Given the description of an element on the screen output the (x, y) to click on. 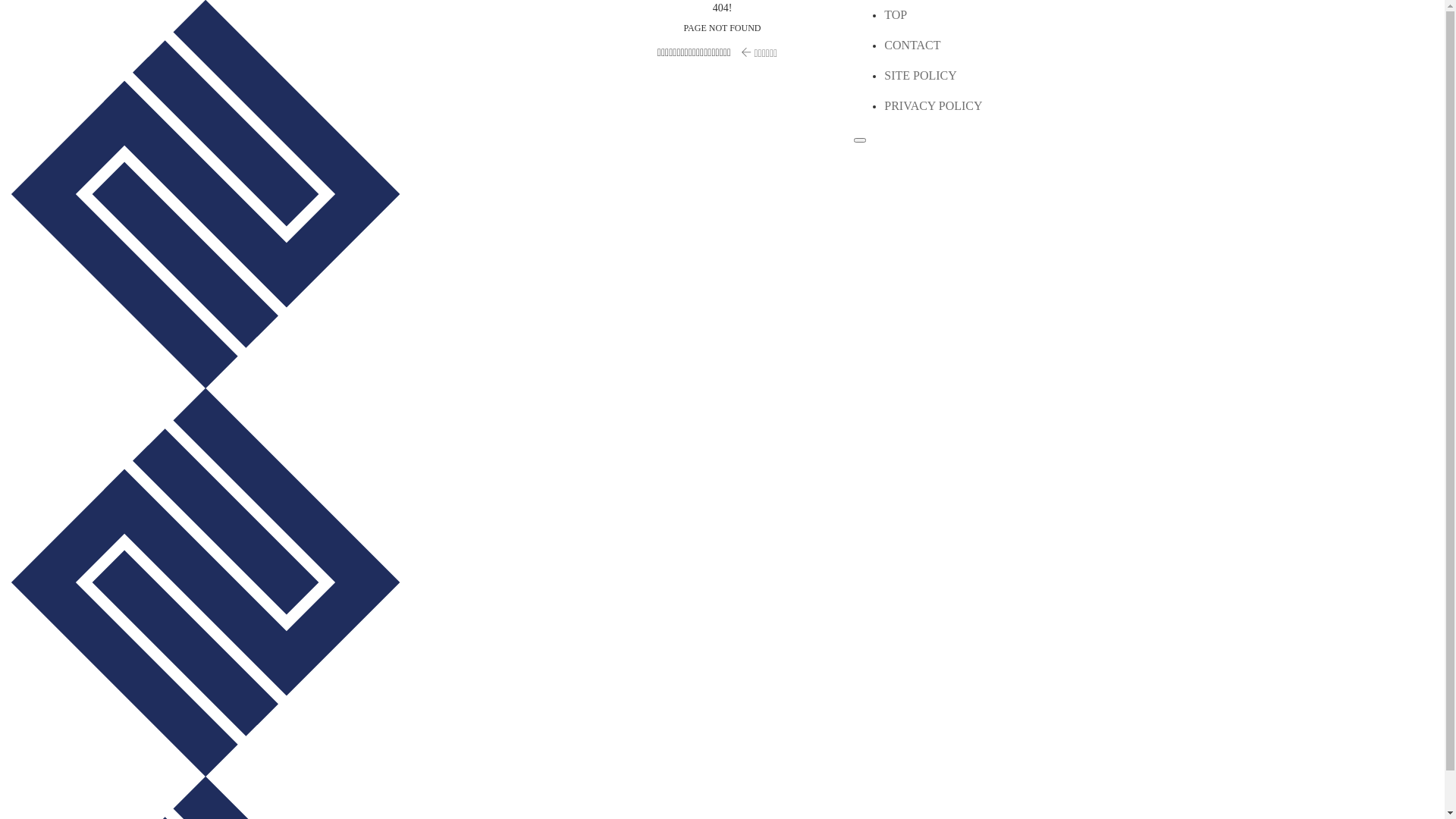
CONTACT Element type: text (912, 44)
TOP Element type: text (895, 14)
SITE POLICY Element type: text (920, 75)
PRIVACY POLICY Element type: text (933, 105)
